Given the description of an element on the screen output the (x, y) to click on. 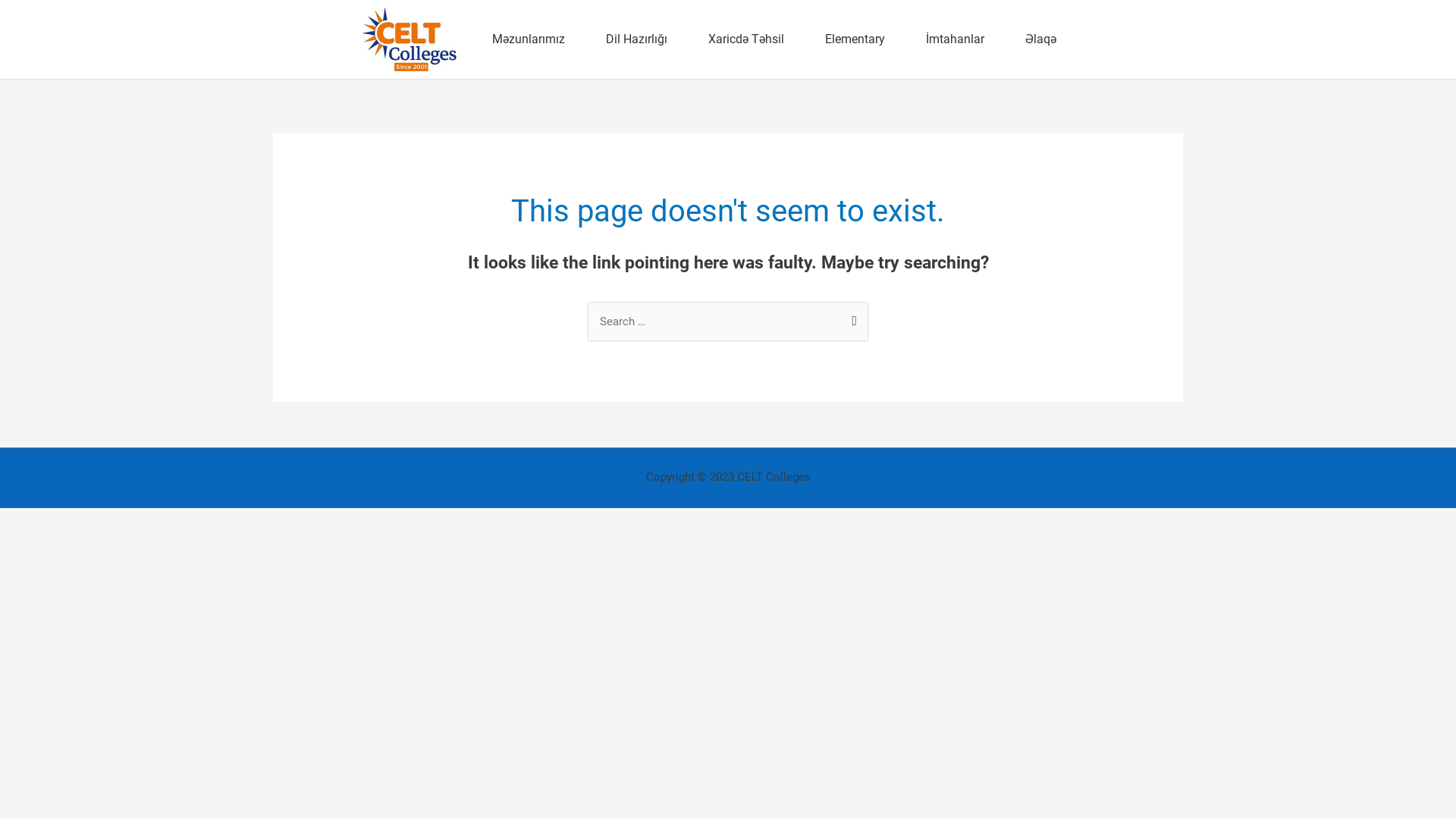
Search Element type: text (851, 316)
Elementary Element type: text (854, 38)
